Given the description of an element on the screen output the (x, y) to click on. 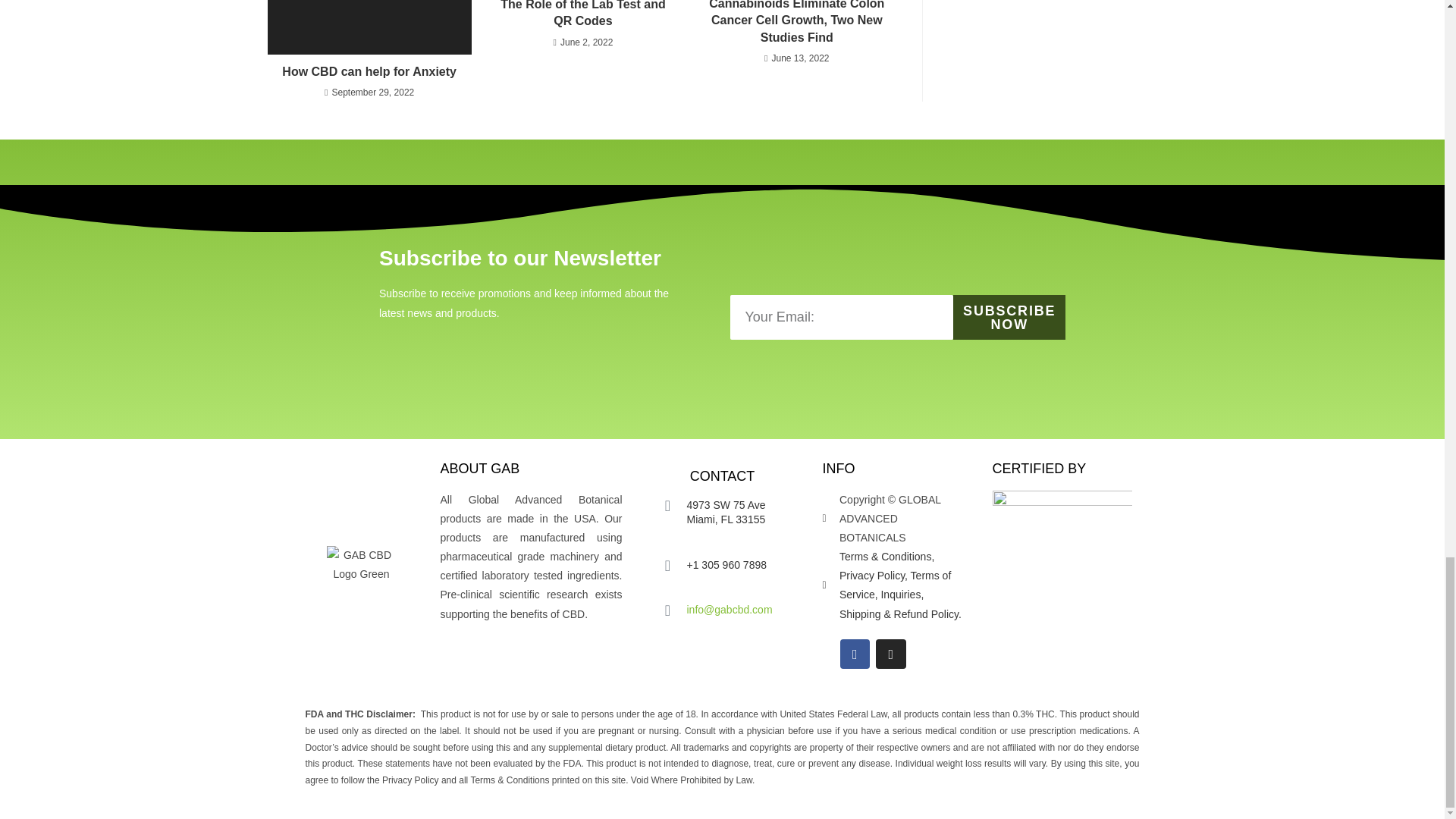
How CBD can help for Anxiety (368, 71)
GAB CBD (361, 564)
SUBSCRIBE NOW (1008, 316)
The Role of the Lab Test and QR Codes (582, 15)
